Given the description of an element on the screen output the (x, y) to click on. 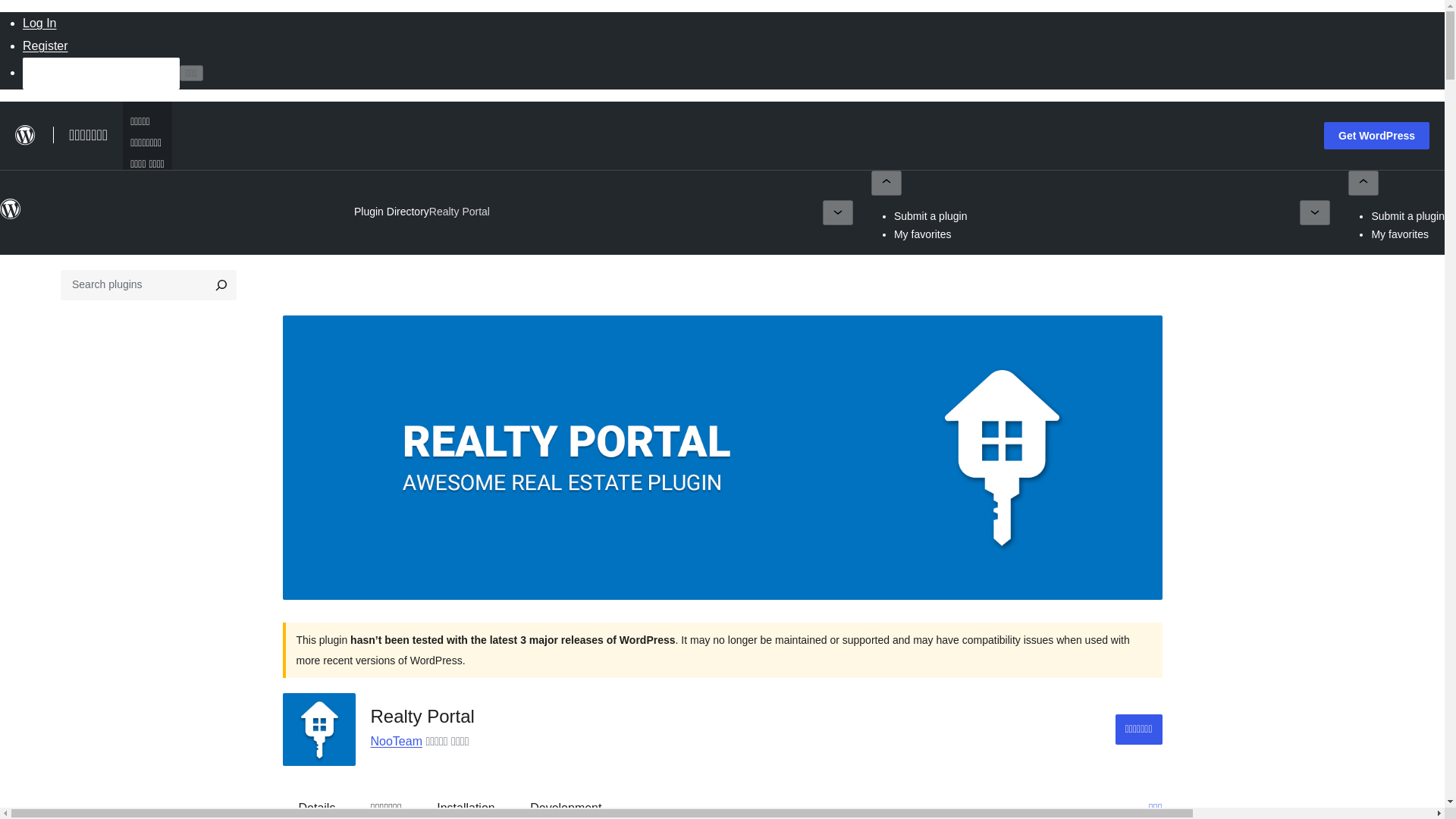
Get WordPress (1376, 135)
My favorites (921, 234)
Submit a plugin (1407, 215)
Realty Portal (459, 212)
Register (45, 45)
WordPress.org (10, 215)
Log In (39, 22)
WordPress.org (10, 209)
Development (565, 804)
My favorites (1399, 234)
Installation (466, 804)
Details (316, 804)
NooTeam (395, 740)
Plugin Directory (391, 211)
Submit a plugin (930, 215)
